Given the description of an element on the screen output the (x, y) to click on. 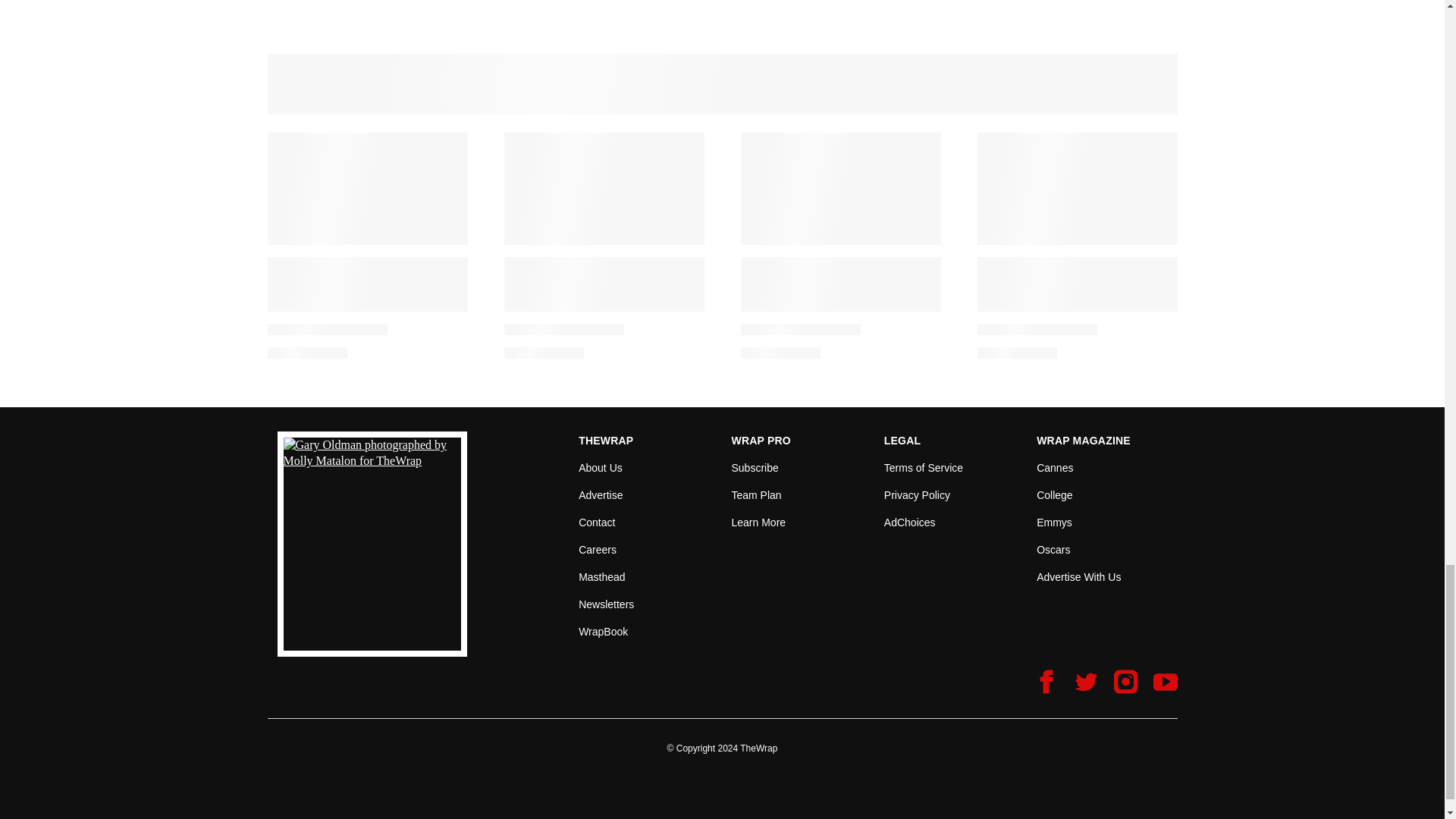
Learn more about becoming a member (758, 522)
